Given the description of an element on the screen output the (x, y) to click on. 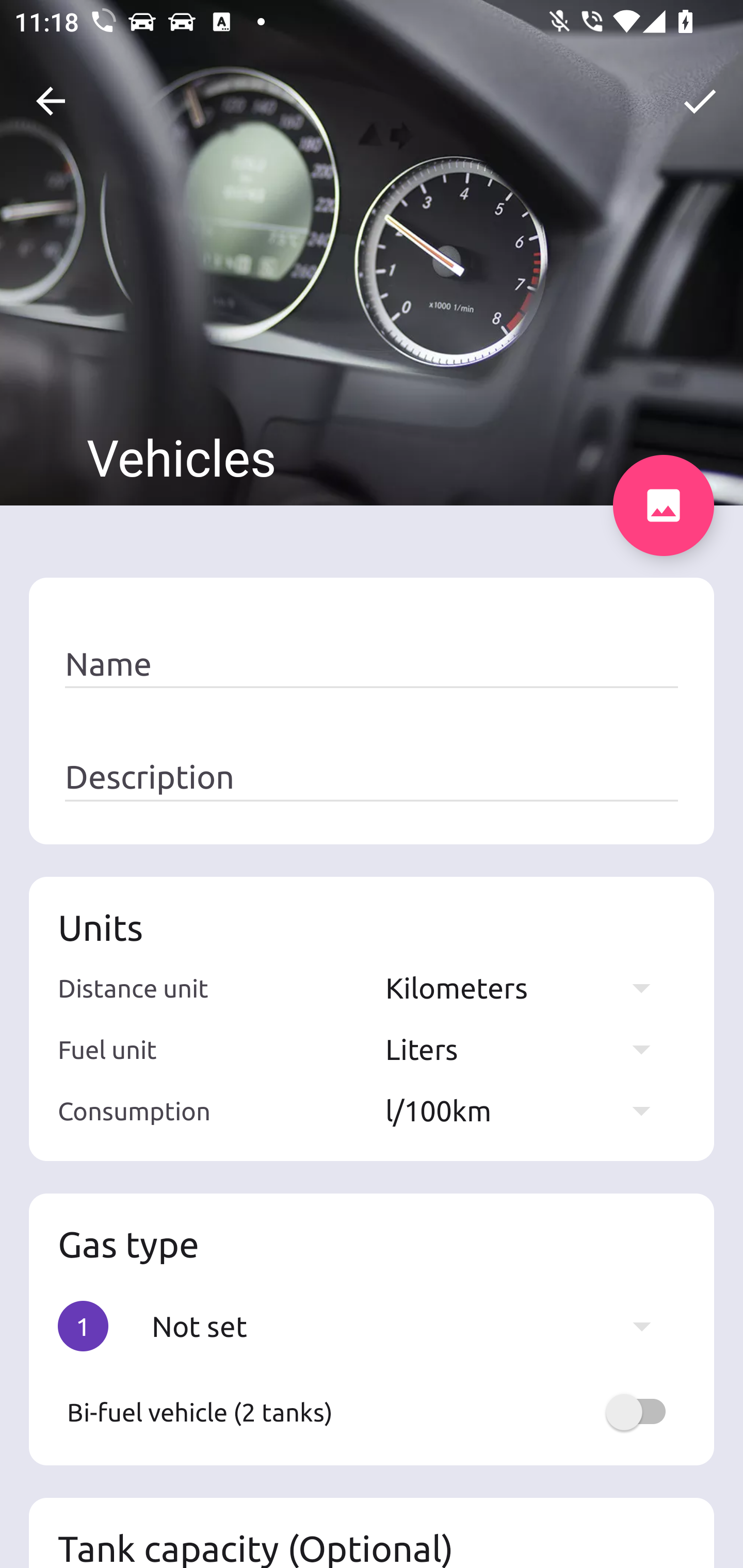
Navigate up (50, 101)
OK (699, 101)
Name (371, 664)
Description (371, 777)
Kilometers (527, 987)
Liters (527, 1048)
l/100km (527, 1110)
Not set (411, 1325)
Bi-fuel vehicle (2 tanks) (371, 1411)
